Given the description of an element on the screen output the (x, y) to click on. 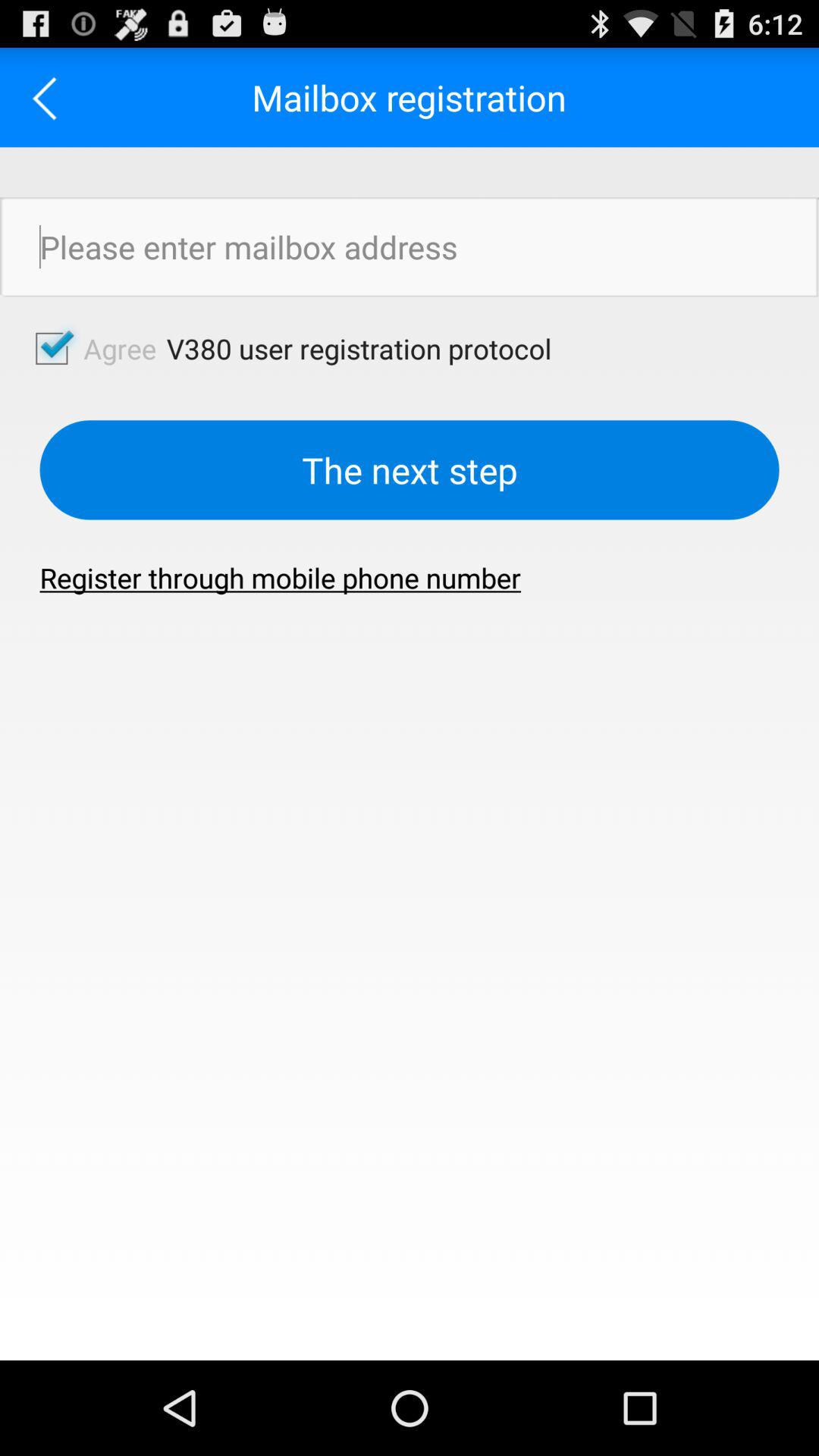
scroll until register through mobile (279, 577)
